Given the description of an element on the screen output the (x, y) to click on. 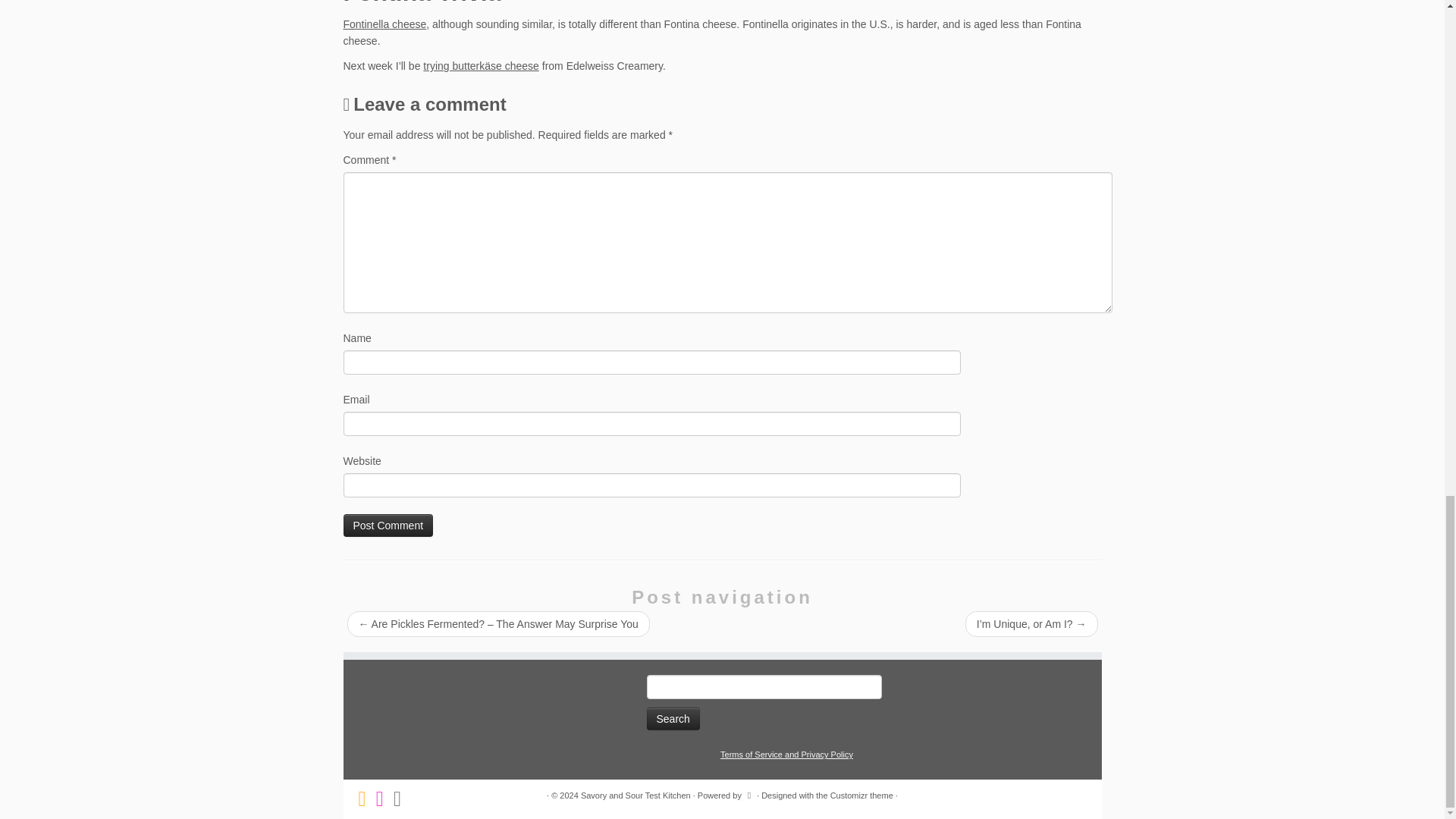
Search (672, 718)
Fontinella cheese (384, 24)
Post Comment (387, 525)
Savory and Sour Test Kitchen (635, 795)
Customizr theme (861, 795)
Post Comment (387, 525)
Savory and Sour Test Kitchen (635, 795)
Powered by WordPress (749, 792)
Search (672, 718)
Customizr theme (861, 795)
